Given the description of an element on the screen output the (x, y) to click on. 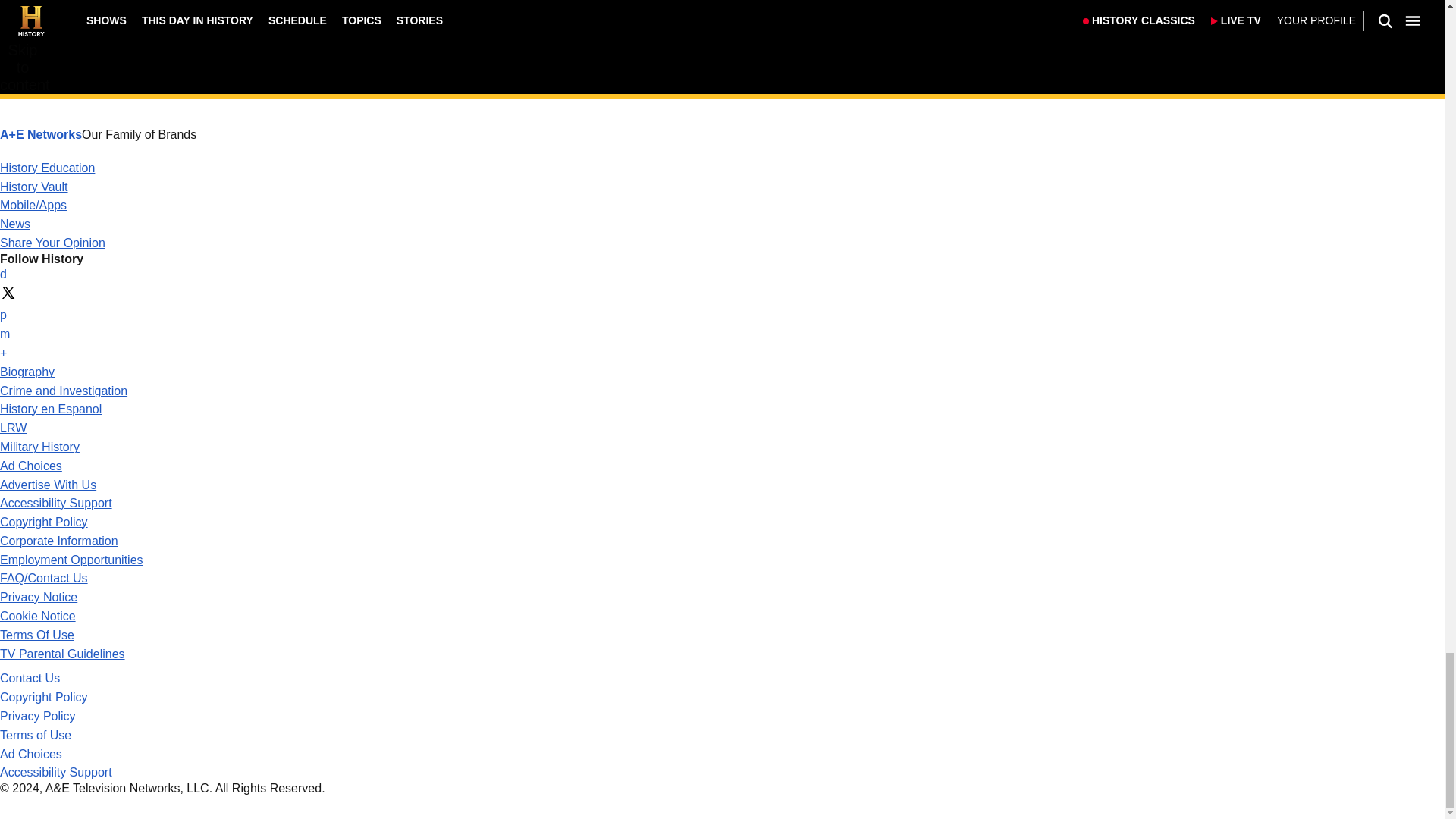
Visit Accessibility Support (56, 502)
Visit Crime and Investigation (64, 390)
Visit History Education (47, 167)
Visit History en Espanol (50, 408)
Visit LRW (13, 427)
Visit News (15, 223)
Visit Military History (40, 446)
Visit Privacy Notice (38, 596)
Visit History Vault (34, 186)
Visit Biography (27, 371)
